Given the description of an element on the screen output the (x, y) to click on. 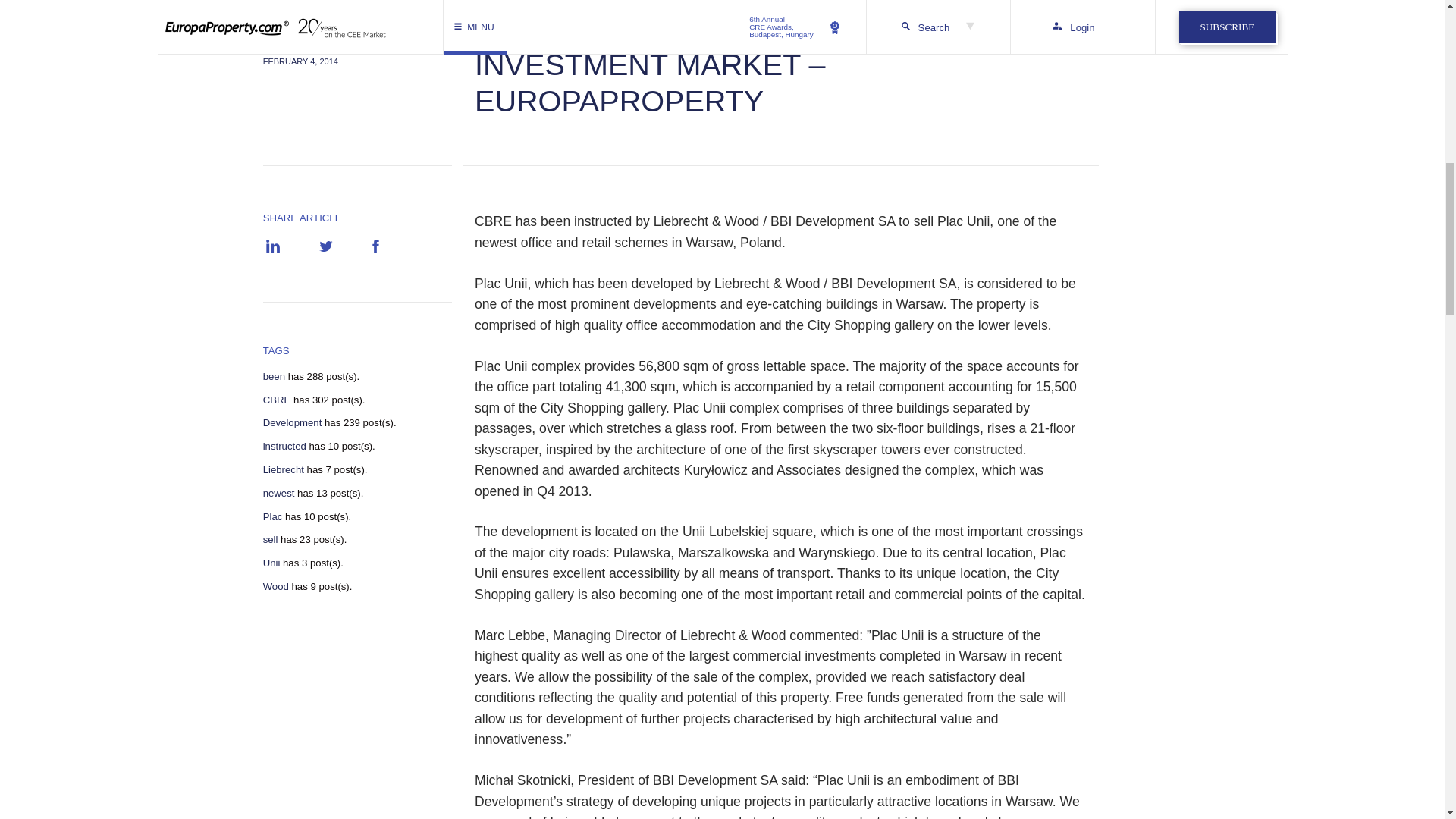
View all posts in instructed (284, 446)
View all posts in Wood (275, 586)
View all posts in been (274, 377)
View all posts in Liebrecht (283, 469)
sell (270, 539)
Development (292, 422)
View all posts in Unii (272, 563)
Plac (272, 517)
instructed (284, 446)
CBRE (277, 399)
